Given the description of an element on the screen output the (x, y) to click on. 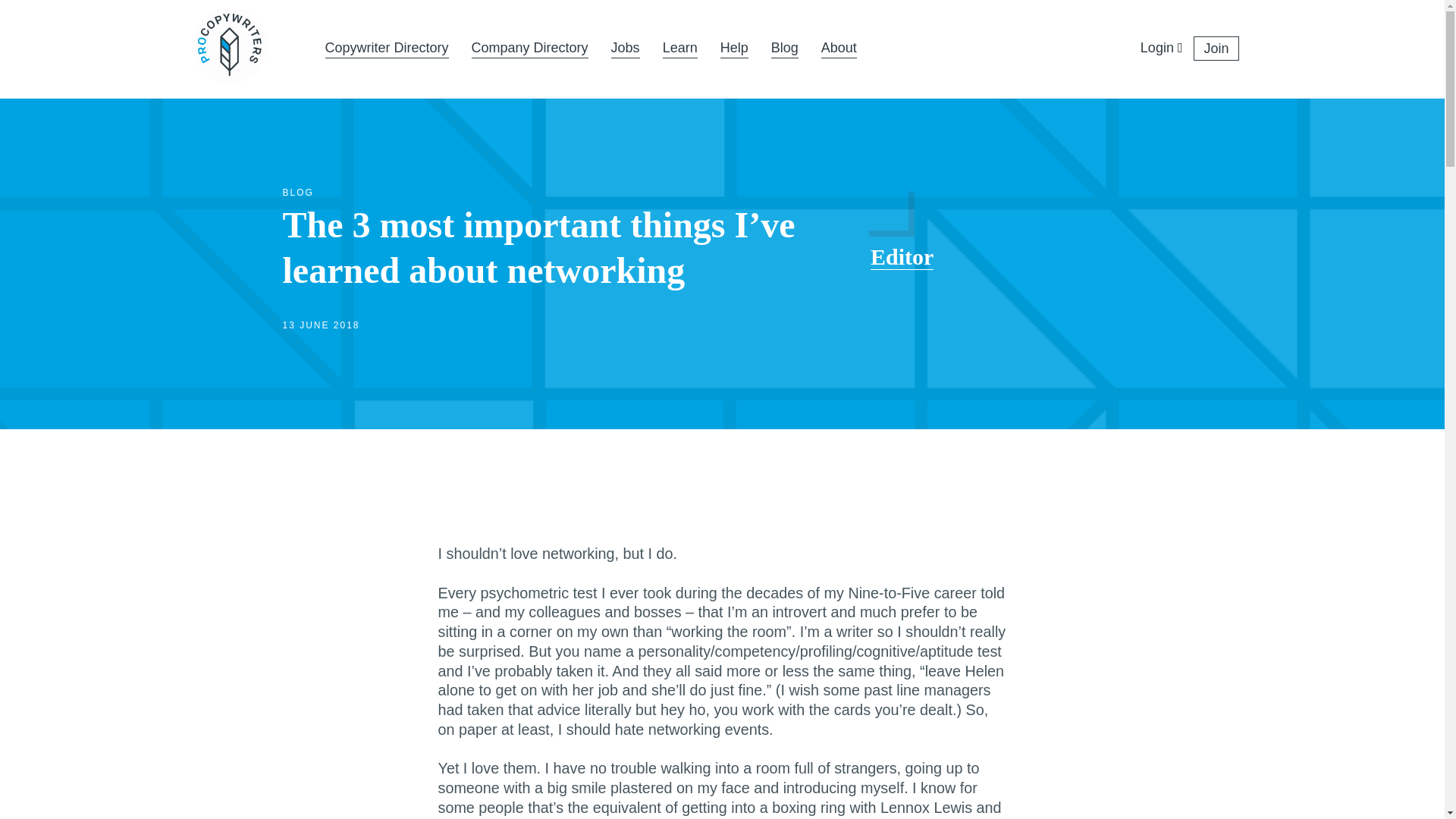
Join (1216, 48)
Editor (901, 257)
About (839, 49)
Learn (679, 49)
Jobs (625, 49)
Copywriter Directory (386, 49)
Help (734, 49)
Blog (784, 49)
Company Directory (529, 49)
Login (1156, 48)
